Given the description of an element on the screen output the (x, y) to click on. 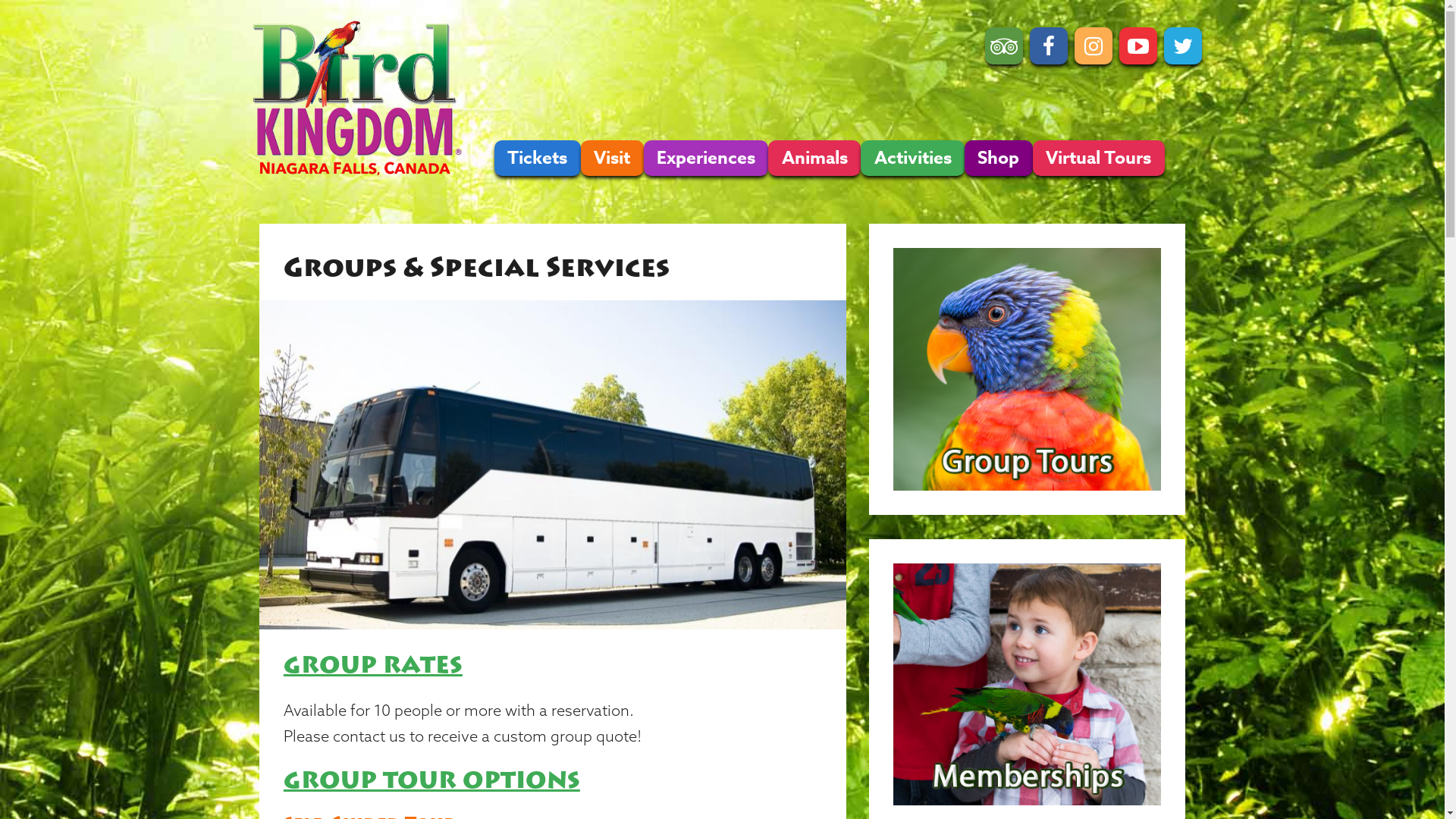
Follow @birdkingdom on Twitter Element type: hover (1182, 45)
Bird Kingdom videos on YouTube Element type: hover (1138, 45)
Skip to main content Element type: text (57, 0)
Tickets Element type: text (537, 157)
Virtual Tours Element type: text (1098, 157)
Like Bird Kingdom on Facebook Element type: hover (1048, 45)
Shop Element type: text (998, 157)
Bird Kingdom reviews at TripAdvisor Element type: hover (1003, 45)
Bird Kingdom photos on Instagram Element type: hover (1093, 45)
